Given the description of an element on the screen output the (x, y) to click on. 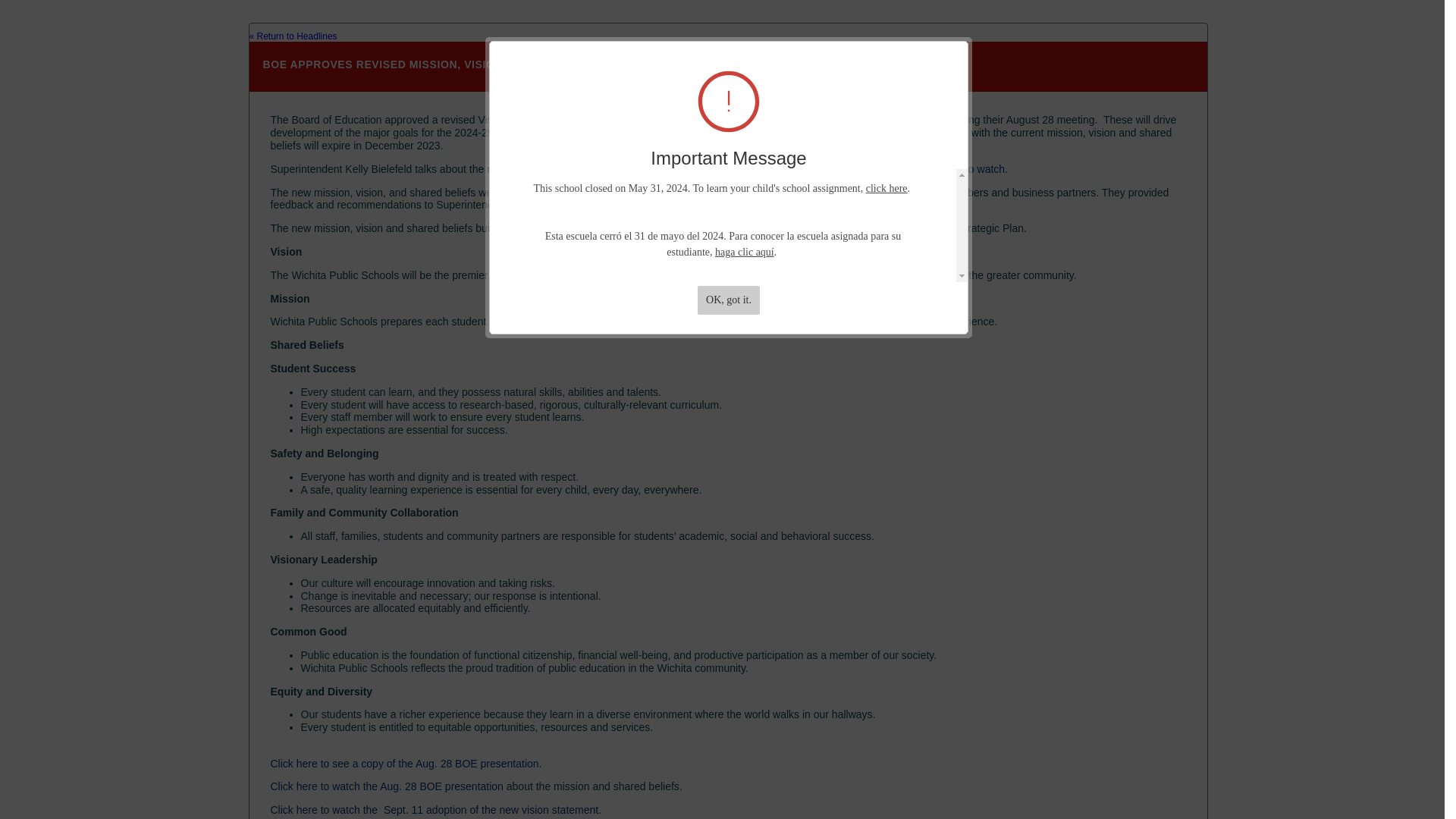
OK, got it. (728, 299)
click here (886, 188)
